Given the description of an element on the screen output the (x, y) to click on. 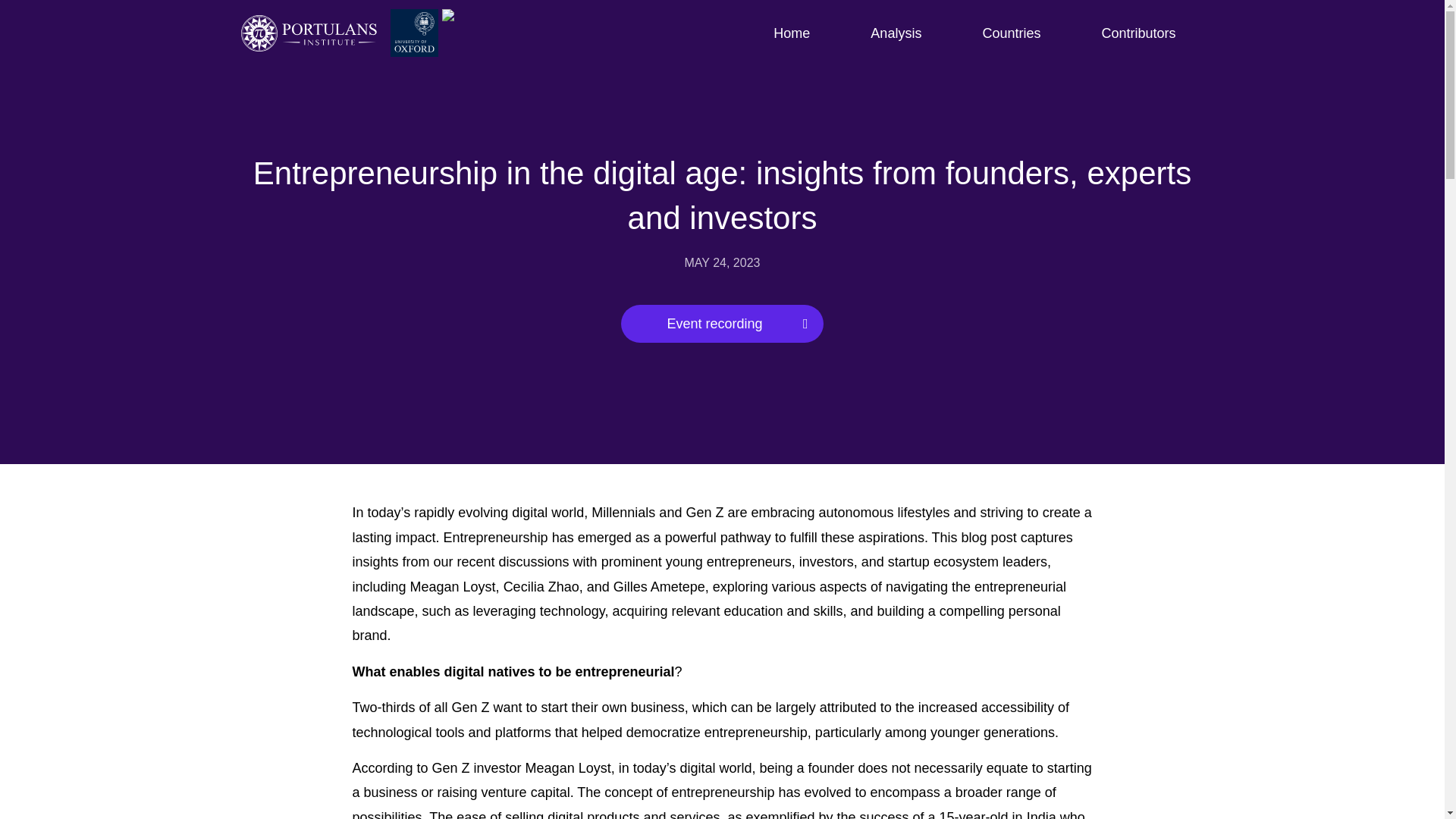
Countries (1011, 32)
Oxford (437, 32)
Contributors (1137, 32)
Event recording (721, 323)
Portulans Institute (314, 33)
Analysis (895, 32)
